Given the description of an element on the screen output the (x, y) to click on. 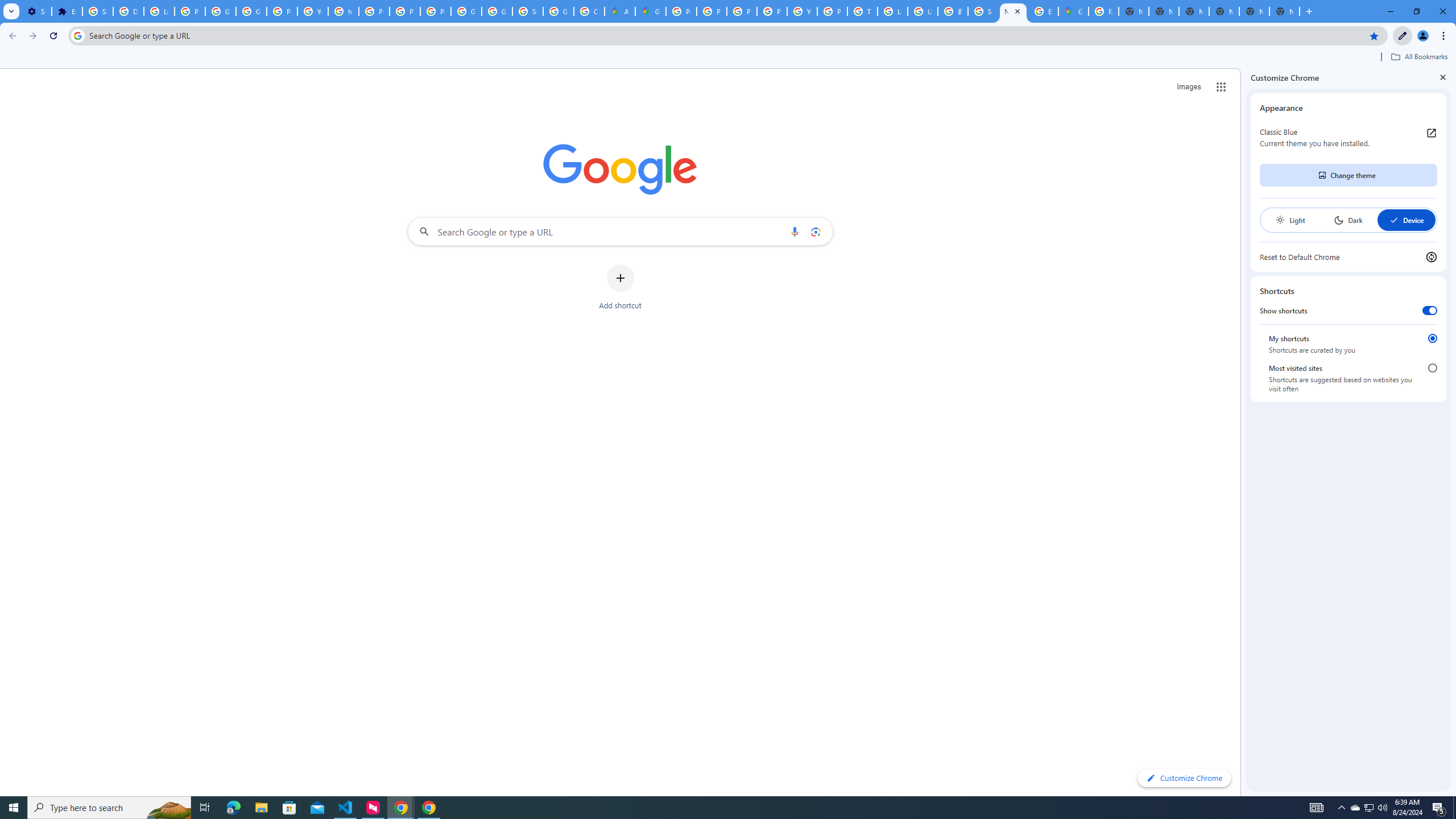
Delete photos & videos - Computer - Google Photos Help (127, 11)
Reset to Default Chrome (1347, 256)
YouTube (312, 11)
Change theme (1348, 174)
Side Panel Resize Handle (1242, 431)
Google Maps (650, 11)
